Given the description of an element on the screen output the (x, y) to click on. 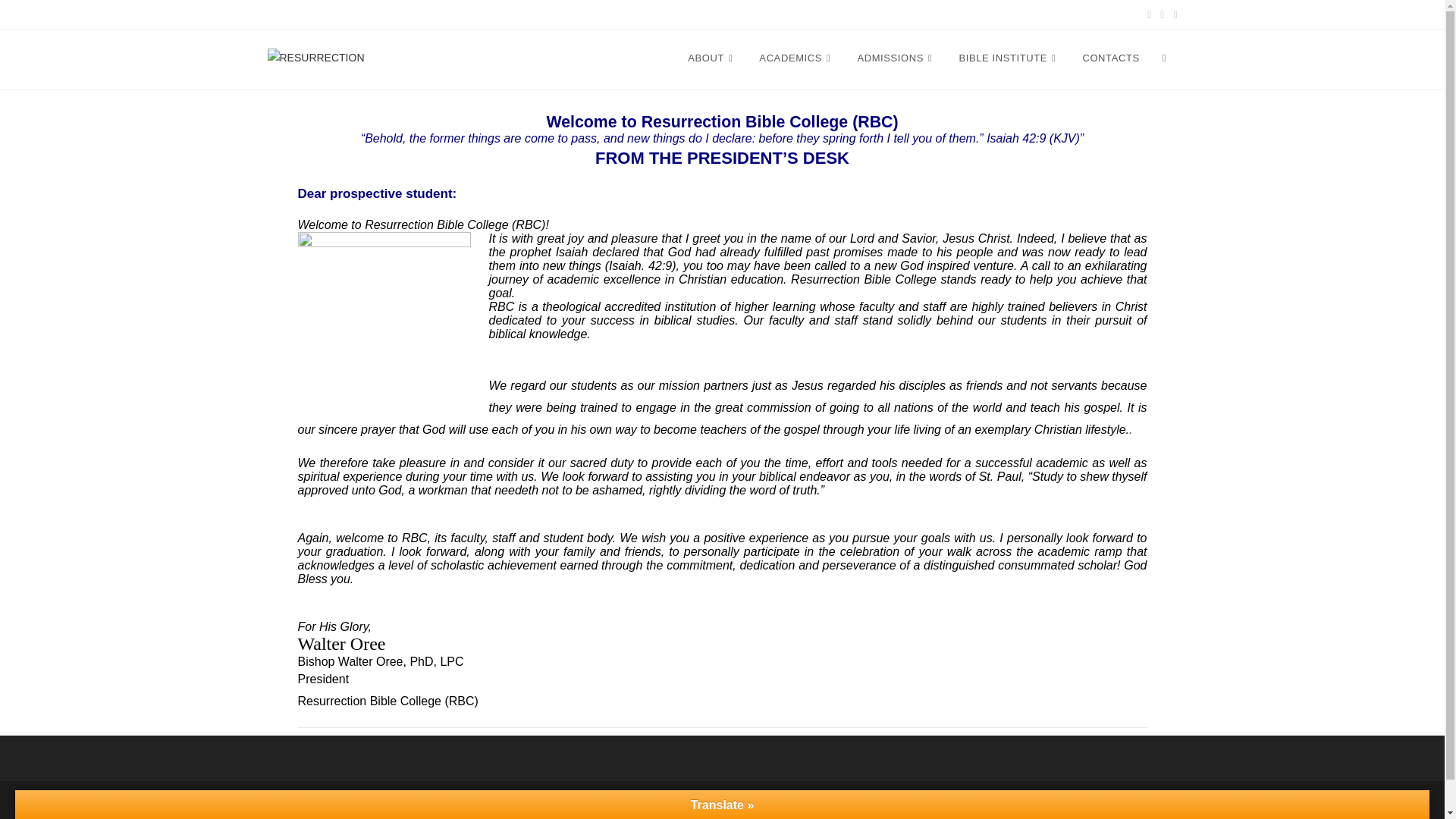
ACADEMICS (796, 58)
LOGINS (413, 13)
BIBLE INSTITUTE (1008, 58)
ADMISSIONS (896, 58)
ABOUT (712, 58)
ZOOM (280, 13)
HOME (643, 58)
CONTACTS (1110, 58)
